Given the description of an element on the screen output the (x, y) to click on. 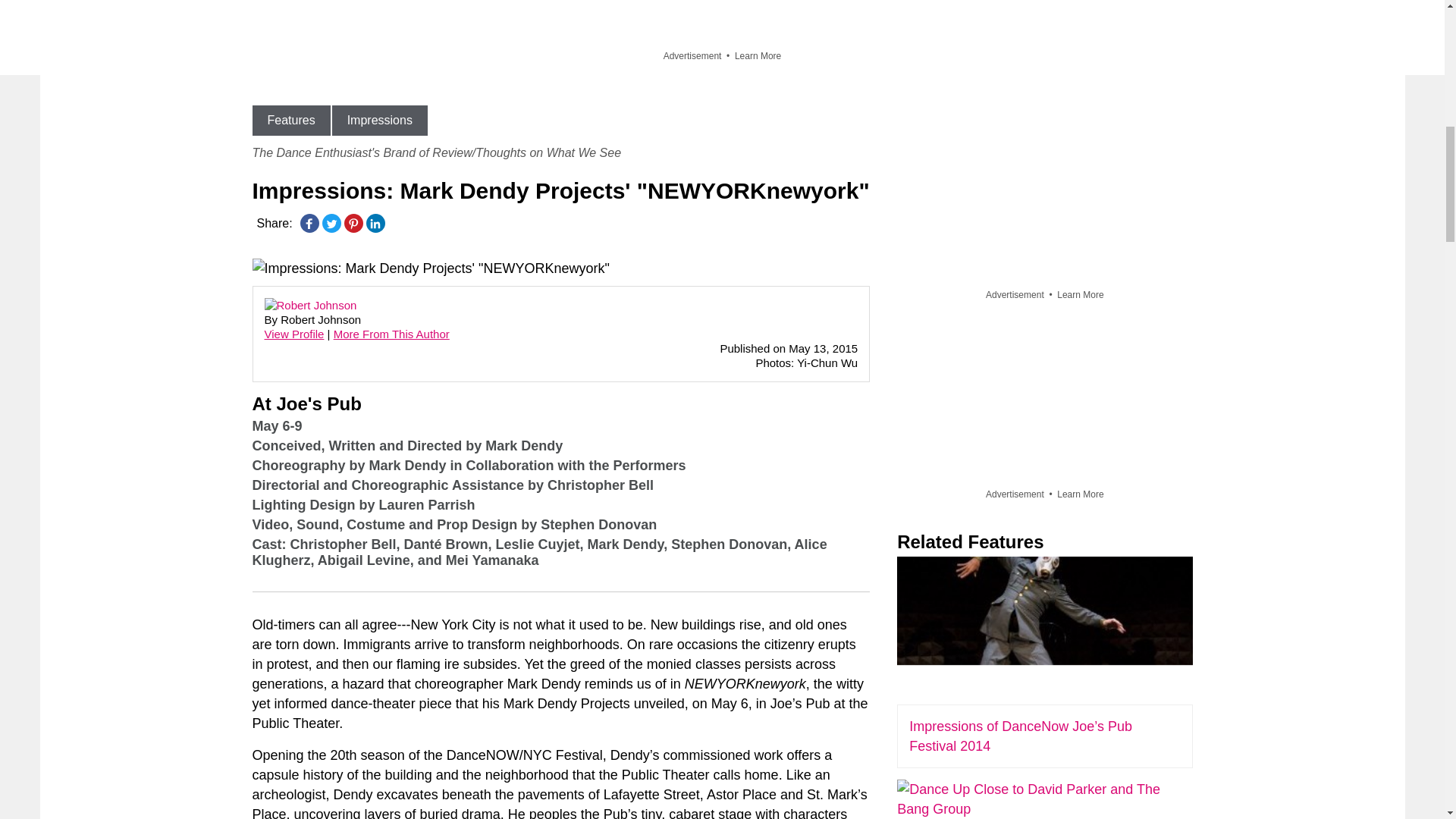
Twitter (331, 223)
Facebook (309, 223)
LinkedIn (375, 223)
Pinterest (353, 223)
